Given the description of an element on the screen output the (x, y) to click on. 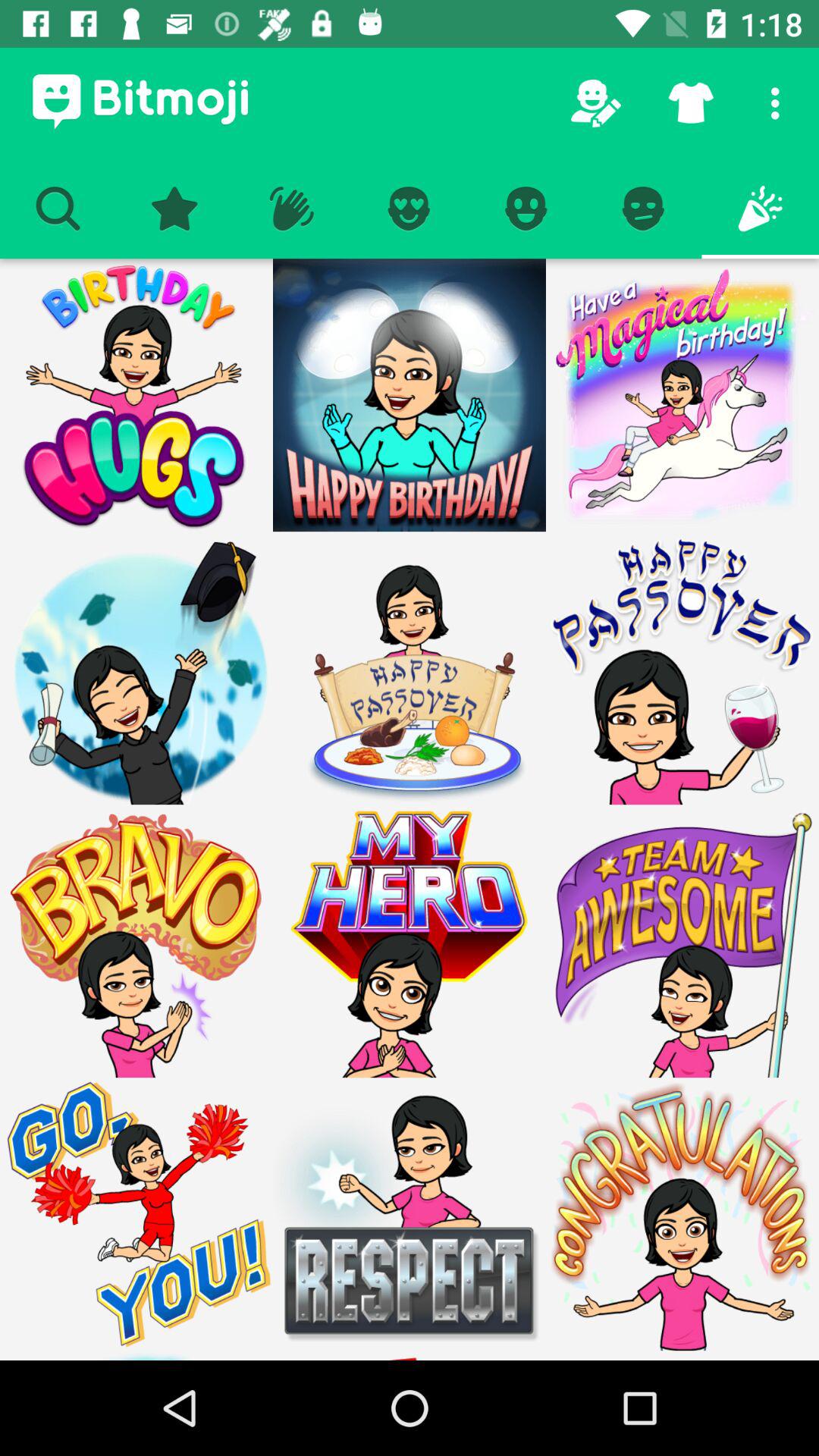
graduate (136, 667)
